Given the description of an element on the screen output the (x, y) to click on. 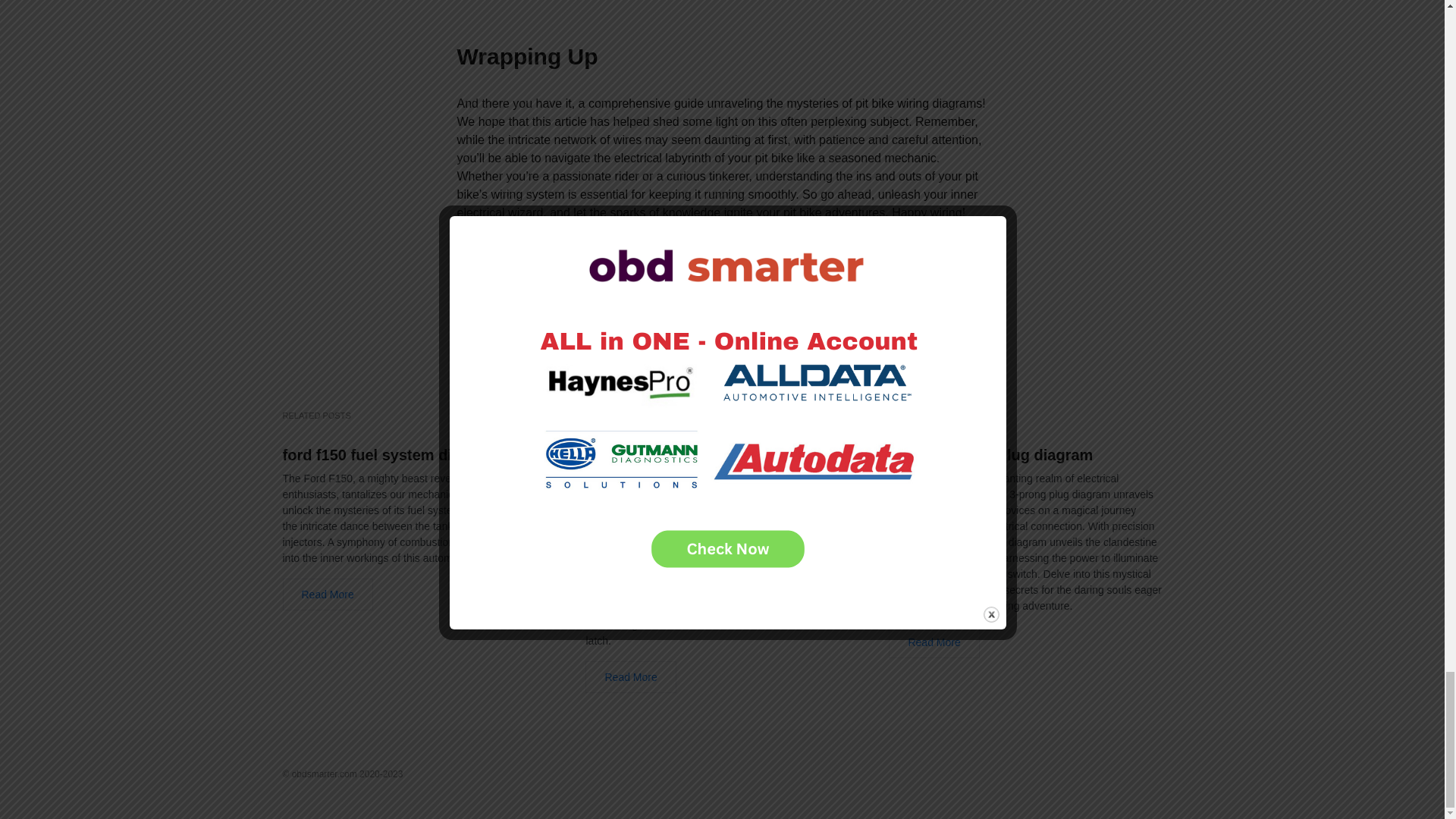
Ryan L. Moses (609, 271)
Wikipedia (646, 324)
